Given the description of an element on the screen output the (x, y) to click on. 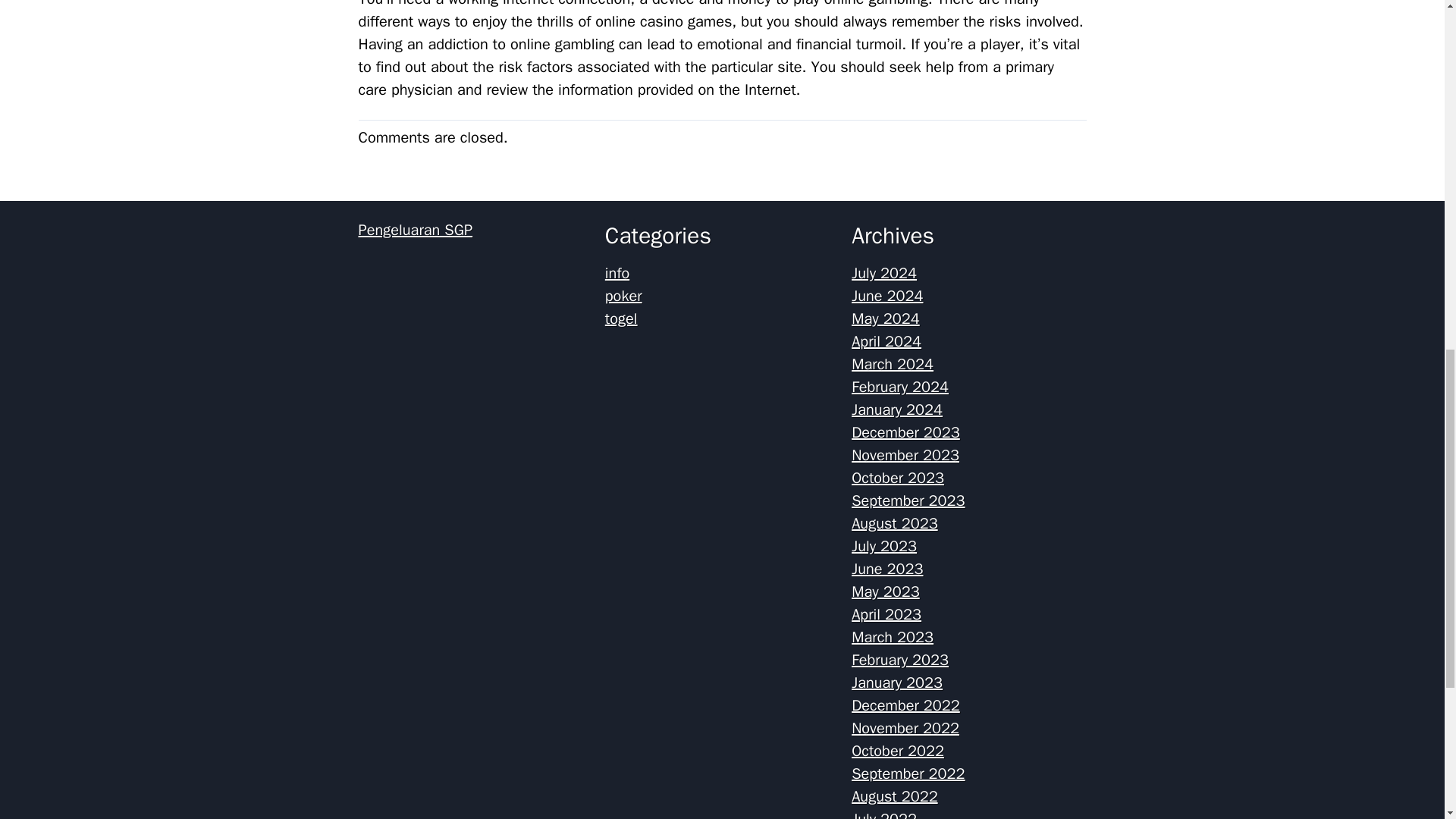
June 2023 (887, 568)
October 2022 (897, 751)
January 2023 (896, 682)
December 2023 (905, 432)
August 2022 (894, 796)
info (616, 272)
February 2023 (900, 659)
togel (621, 318)
March 2024 (892, 363)
January 2024 (896, 409)
April 2024 (886, 341)
September 2023 (907, 500)
Pengeluaran SGP (414, 229)
October 2023 (897, 477)
May 2024 (885, 318)
